Given the description of an element on the screen output the (x, y) to click on. 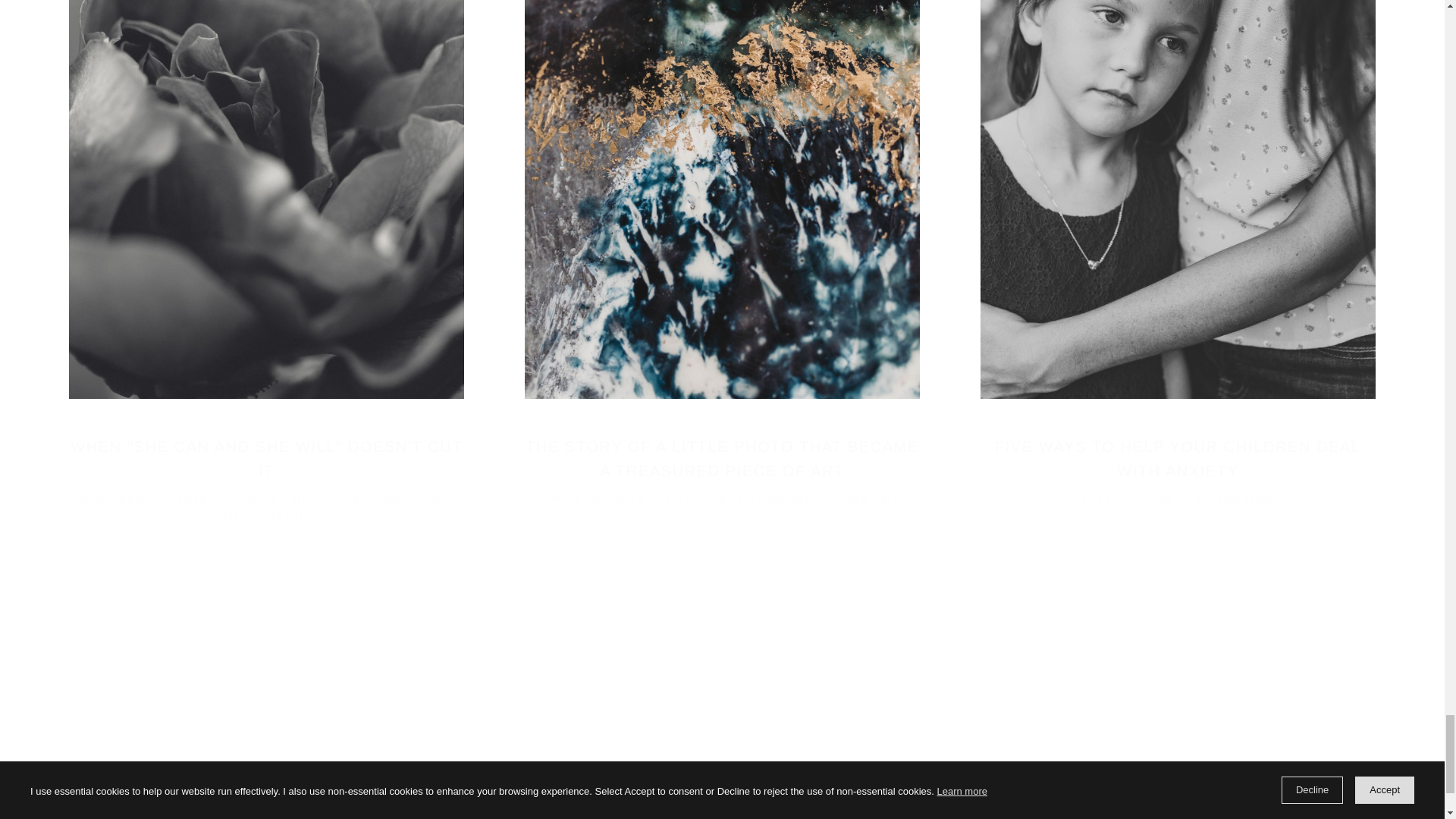
REAL LIFE (327, 499)
FAMILY (254, 499)
